Given the description of an element on the screen output the (x, y) to click on. 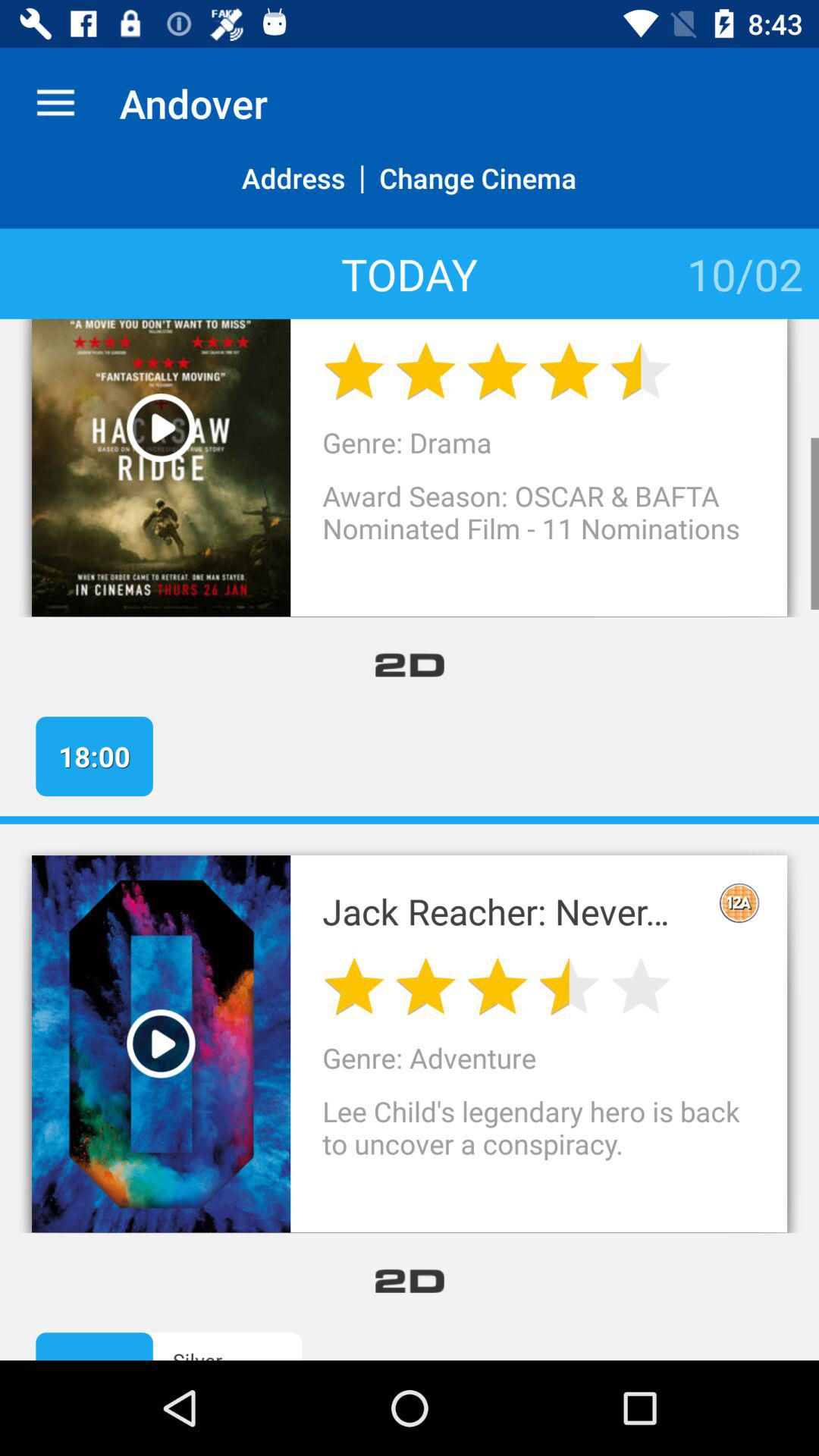
select item above today (477, 193)
